Given the description of an element on the screen output the (x, y) to click on. 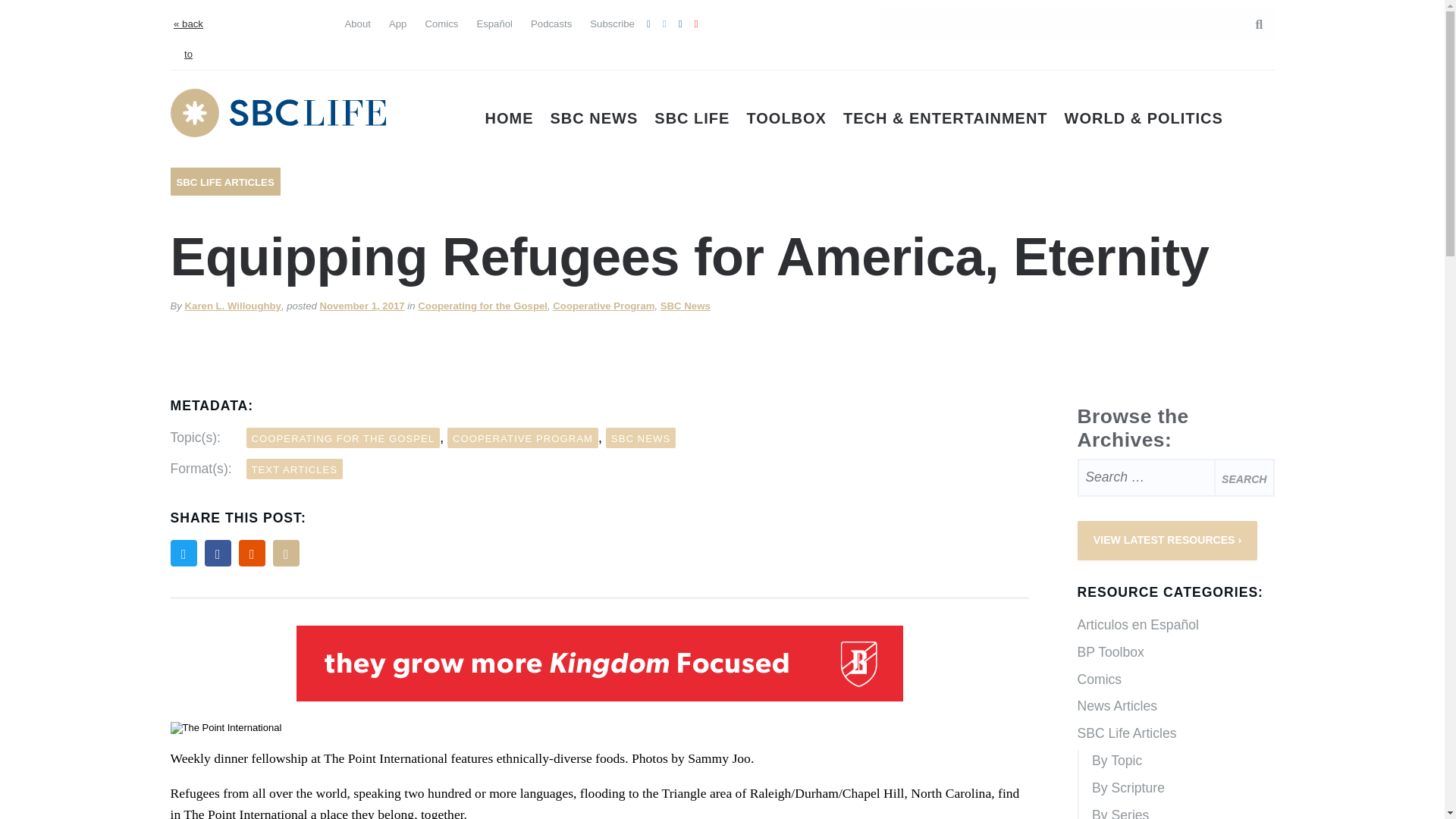
HOME (509, 117)
November 1, 2017 (362, 306)
App (397, 23)
SBC News (685, 306)
SBC LIFE (691, 117)
English (218, 21)
Search (1244, 477)
TEXT ARTICLES (294, 468)
Korean (273, 51)
About (356, 23)
